Given the description of an element on the screen output the (x, y) to click on. 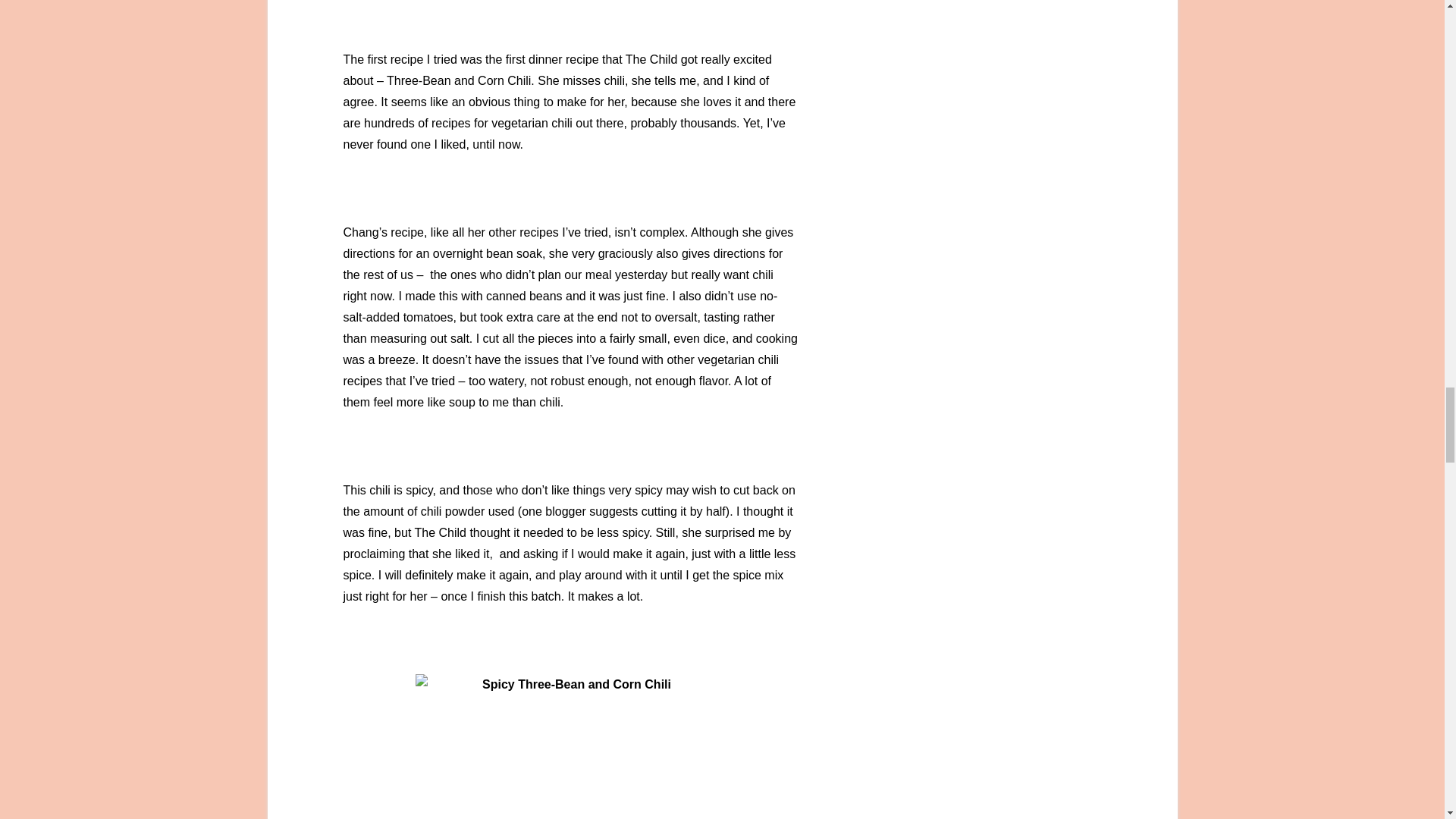
Spicy Three-Bean and Corn Chili (569, 746)
